Given the description of an element on the screen output the (x, y) to click on. 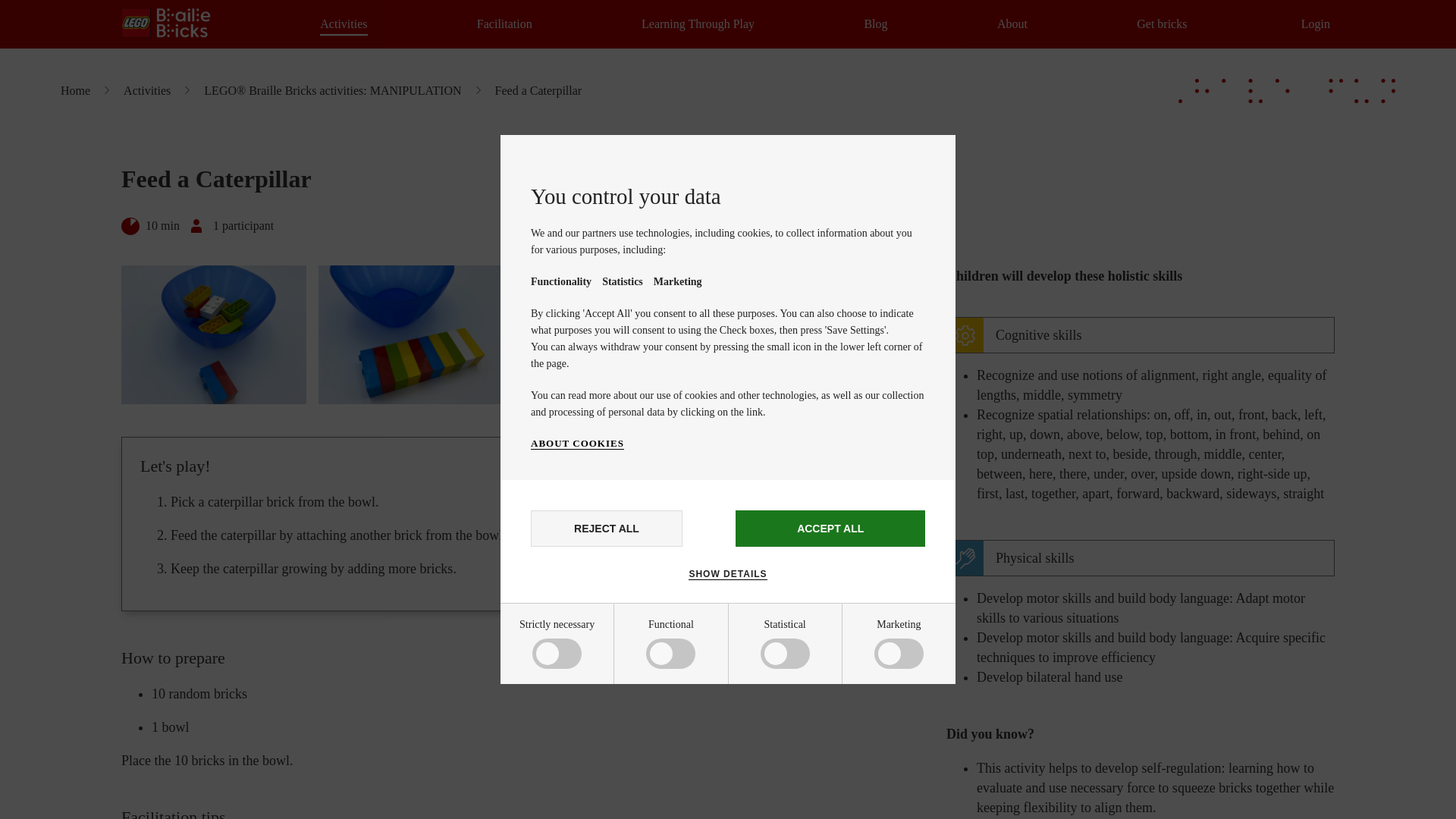
REJECT ALL (606, 528)
Functional (585, 714)
Activities (343, 24)
Learning Through Play (698, 24)
Blog (874, 24)
SHOW DETAILS (727, 573)
Strictly necessary (585, 657)
Marketing (585, 809)
Facilitation (504, 24)
ACCEPT ALL (829, 528)
About (1012, 24)
Statistical (585, 766)
ABOUT COOKIES (577, 443)
